Given the description of an element on the screen output the (x, y) to click on. 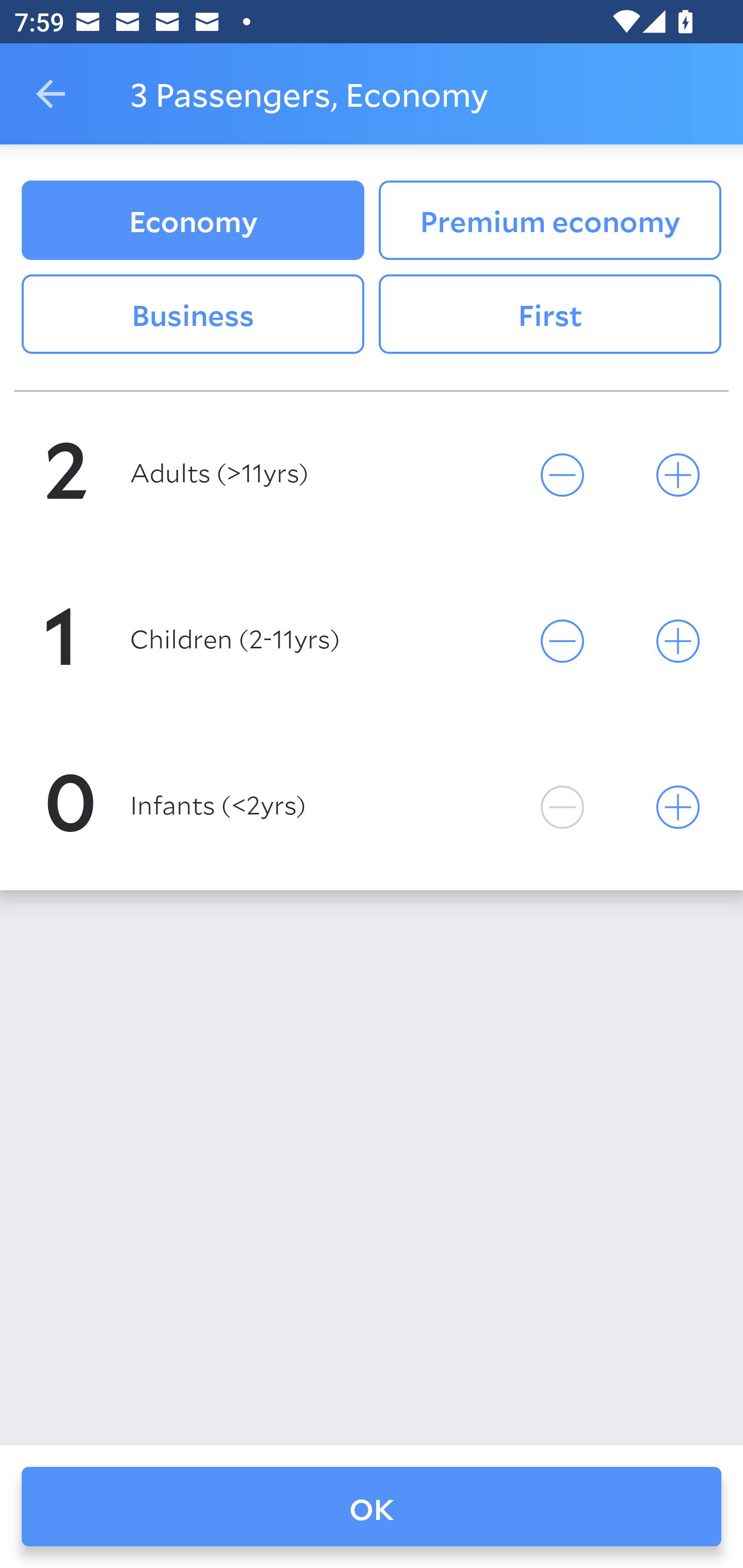
Navigate up (50, 93)
Economy (192, 220)
Premium economy (549, 220)
Business (192, 314)
First (549, 314)
OK (371, 1506)
